Given the description of an element on the screen output the (x, y) to click on. 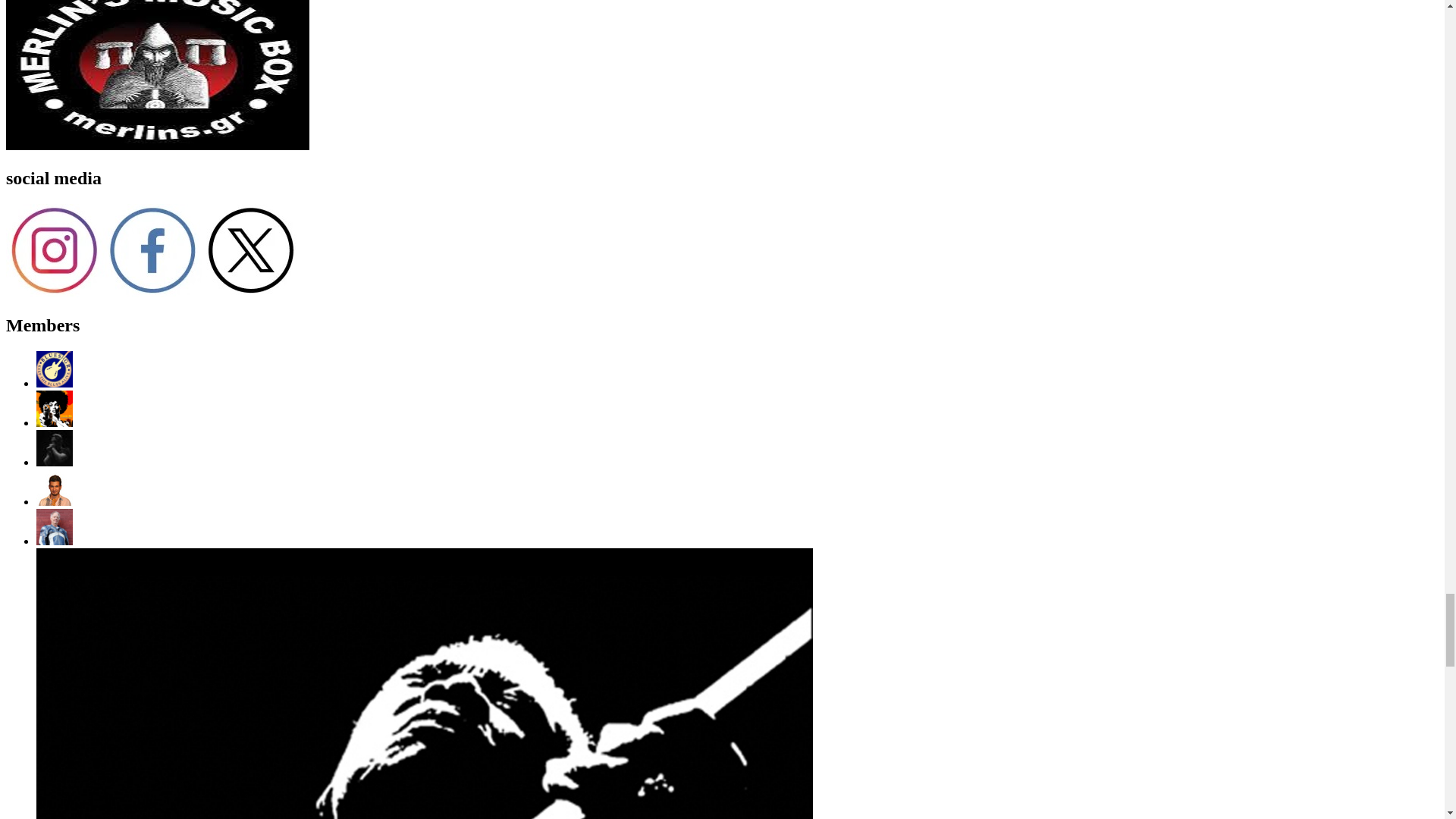
Giannis Pachidis (54, 461)
billy jones bluez (54, 422)
Pat O'Connor (54, 540)
Nassos "Conqueso" Polyzoidis (54, 501)
Music Network by Michael Limnios (54, 382)
